Given the description of an element on the screen output the (x, y) to click on. 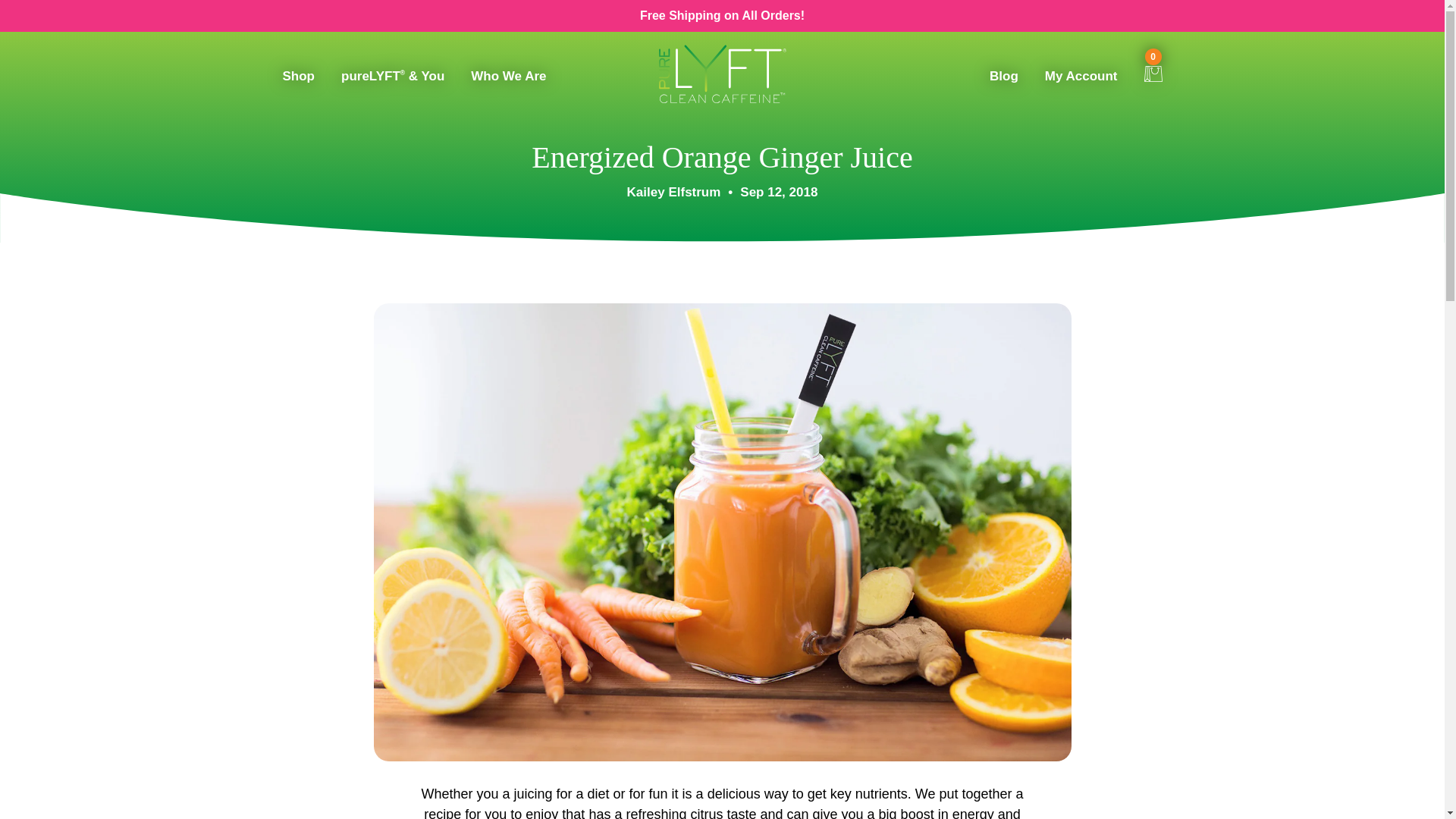
My Account (1081, 80)
Who We Are (508, 80)
Blog (1003, 80)
Shop (298, 80)
